Given the description of an element on the screen output the (x, y) to click on. 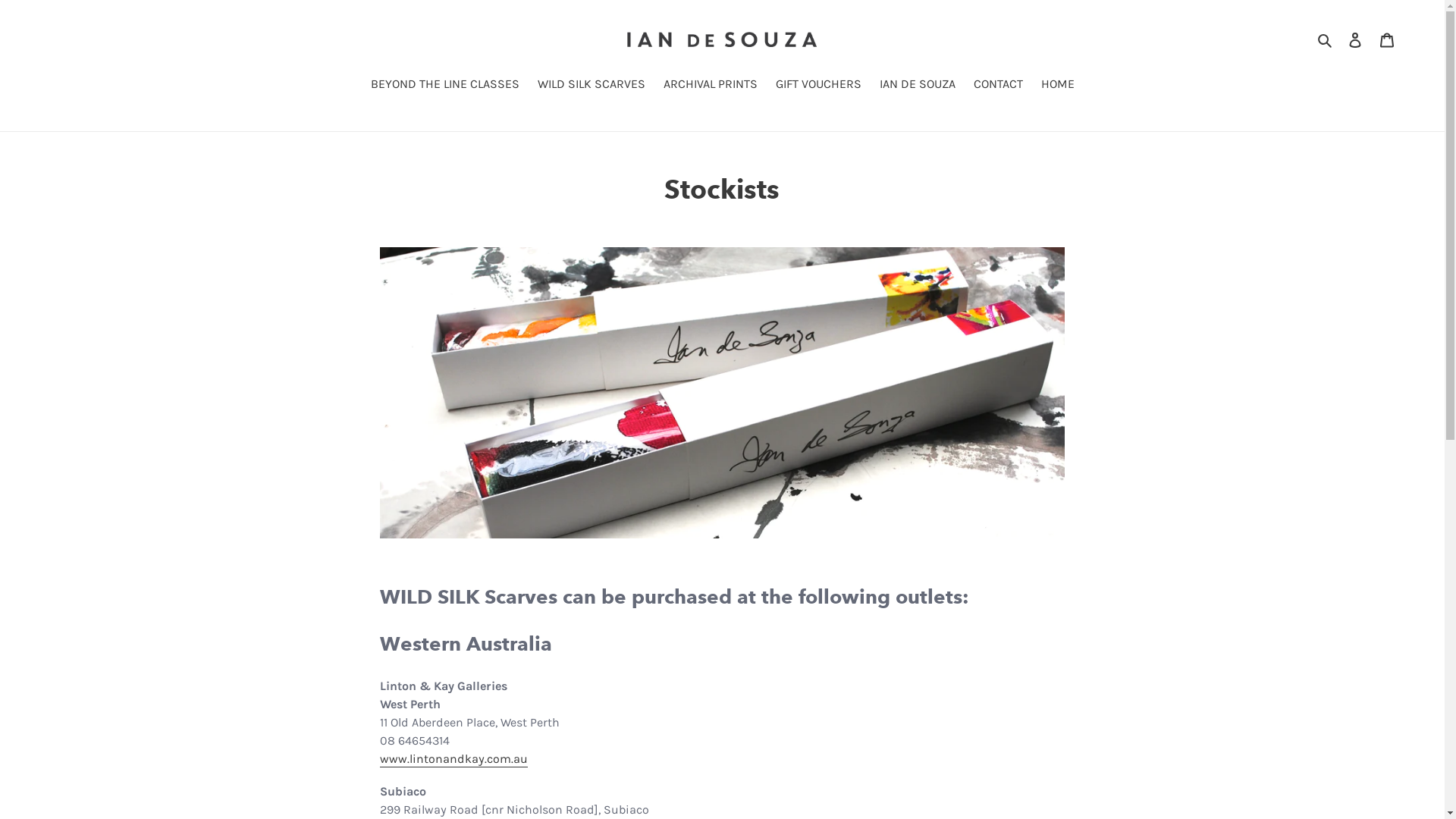
BEYOND THE LINE CLASSES Element type: text (444, 85)
CONTACT Element type: text (998, 85)
ARCHIVAL PRINTS Element type: text (709, 85)
WILD SILK SCARVES Element type: text (590, 85)
HOME Element type: text (1056, 85)
IAN DE SOUZA Element type: text (917, 85)
www.lintonandkay.com.au Element type: text (453, 759)
Log in Element type: text (1355, 39)
GIFT VOUCHERS Element type: text (817, 85)
Cart Element type: text (1386, 39)
Search Element type: text (1325, 39)
